Given the description of an element on the screen output the (x, y) to click on. 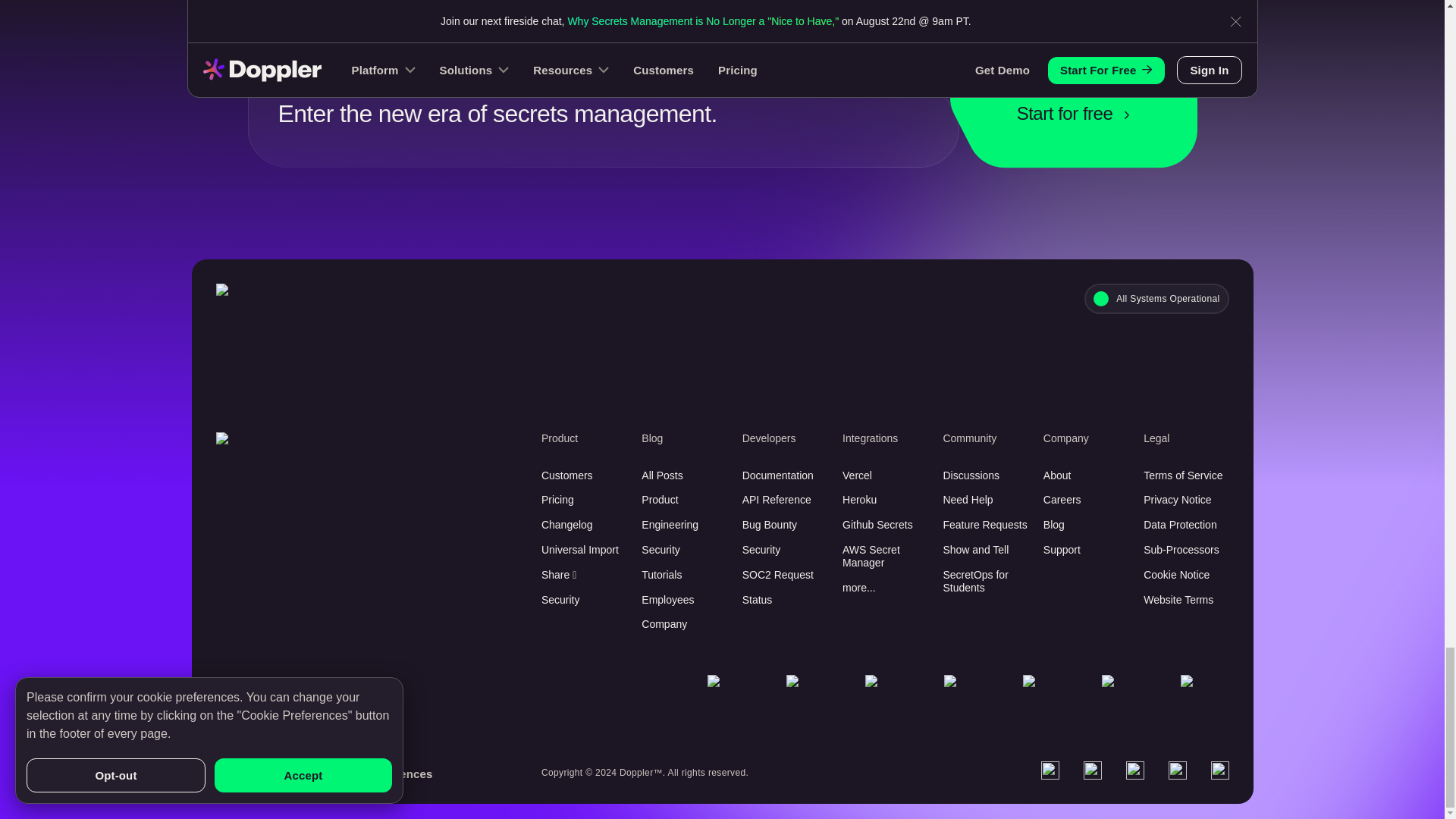
Security (684, 549)
Security (583, 599)
Changelog (583, 524)
Product (684, 499)
Pricing (583, 499)
All Systems Operational (1156, 298)
Tutorials (684, 574)
Universal Import (583, 549)
Customers (583, 475)
Cookie Preferences (377, 773)
